Given the description of an element on the screen output the (x, y) to click on. 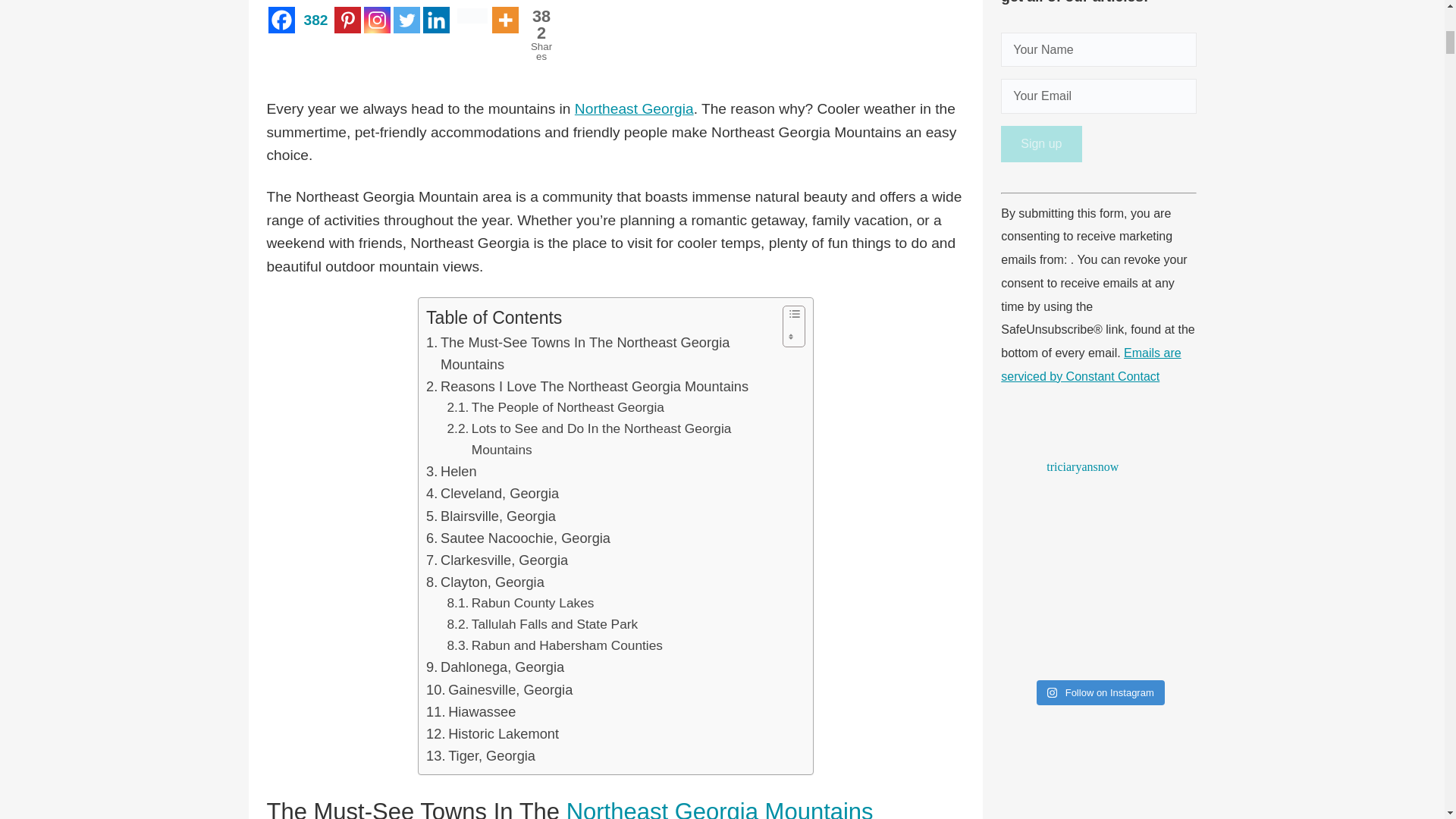
Sign up (1041, 144)
Instagram (377, 19)
Helen (451, 471)
Cleveland, Georgia (492, 493)
The Must-See Towns In The Northeast Georgia Mountains (600, 353)
Pinterest (538, 21)
The People of Northeast Georgia (328, 19)
Blairsville, Georgia (554, 407)
Facebook (491, 516)
